Given the description of an element on the screen output the (x, y) to click on. 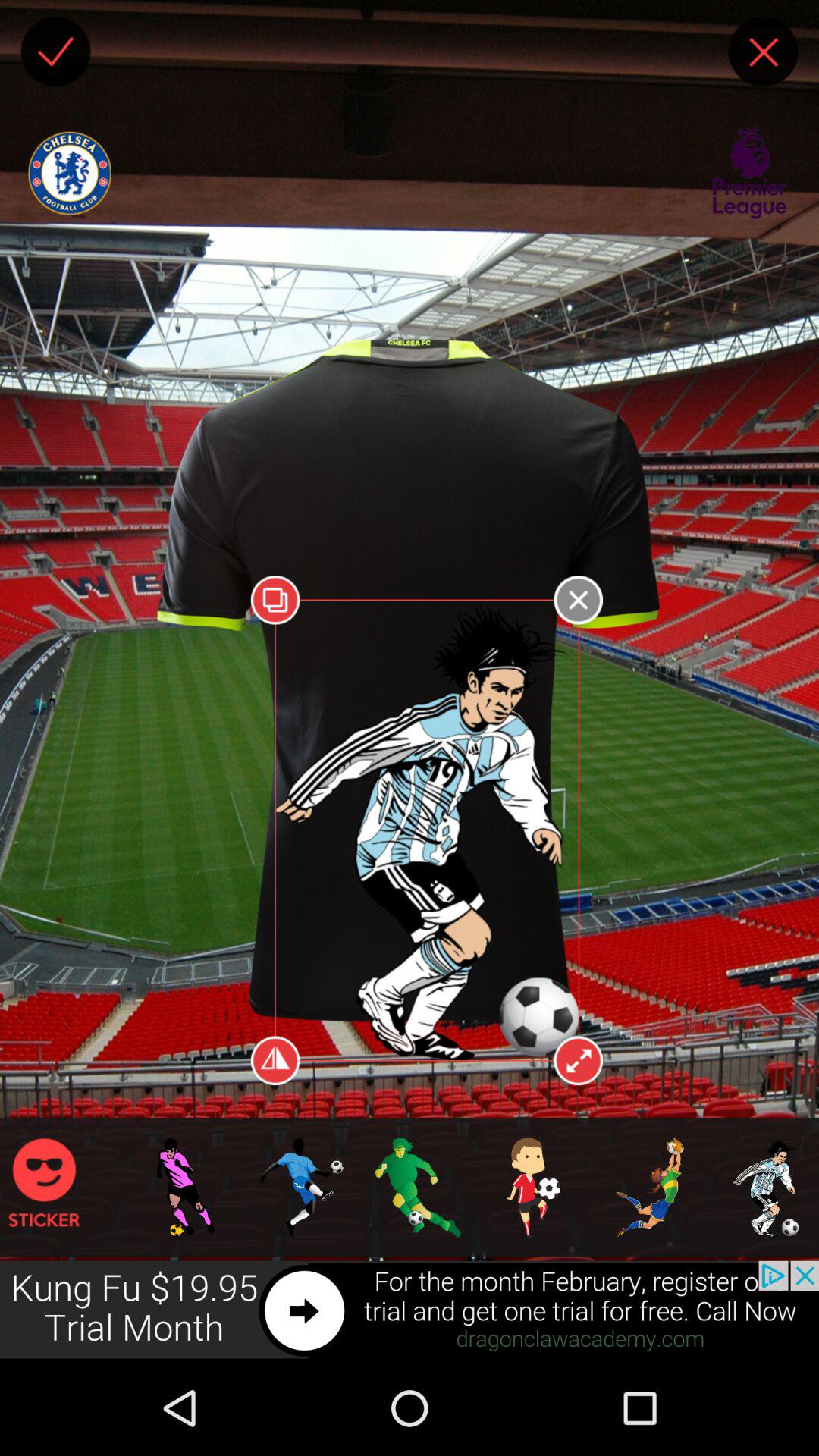
to close the window (763, 51)
